Given the description of an element on the screen output the (x, y) to click on. 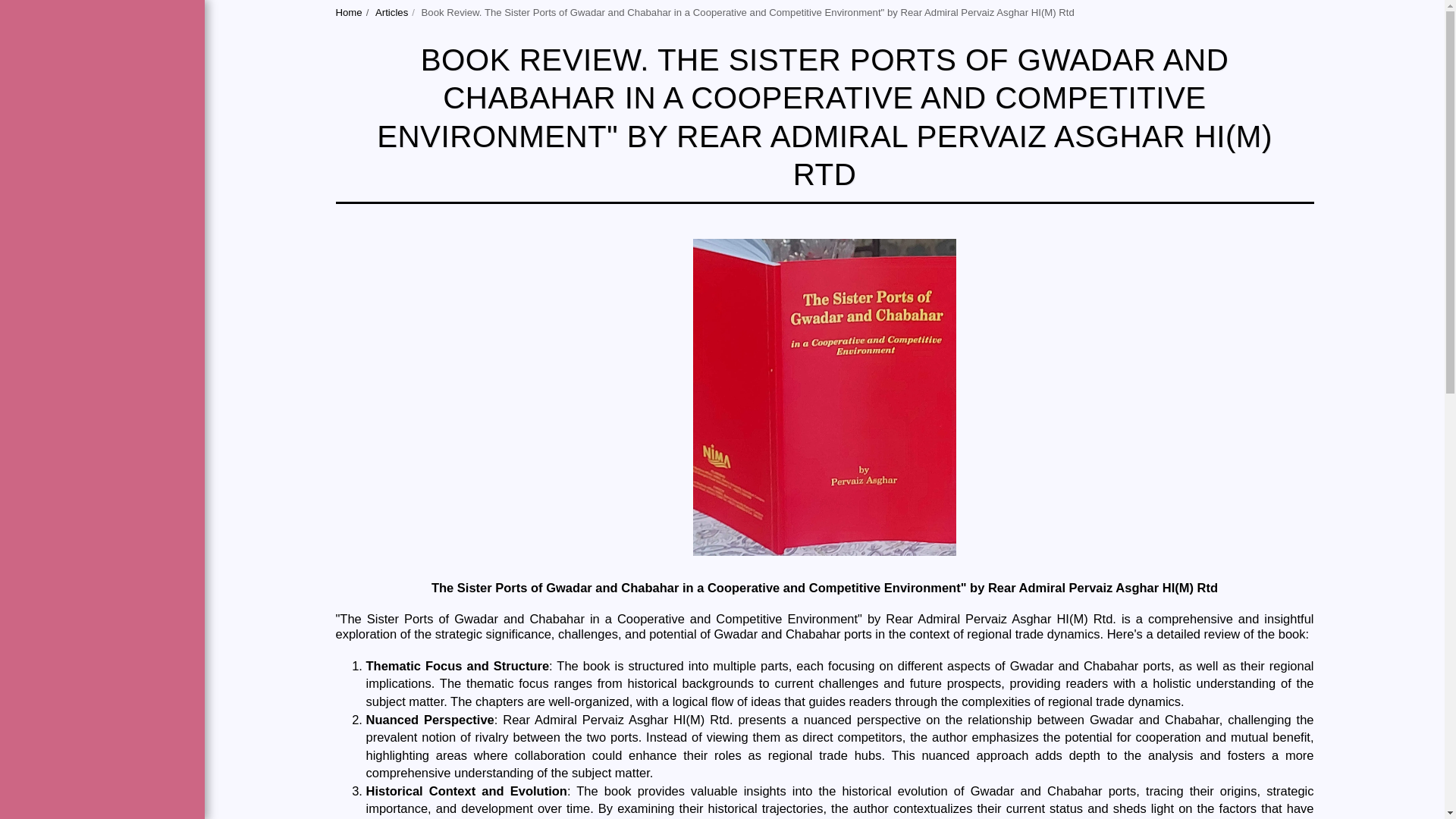
Home (347, 12)
Articles (391, 12)
